Given the description of an element on the screen output the (x, y) to click on. 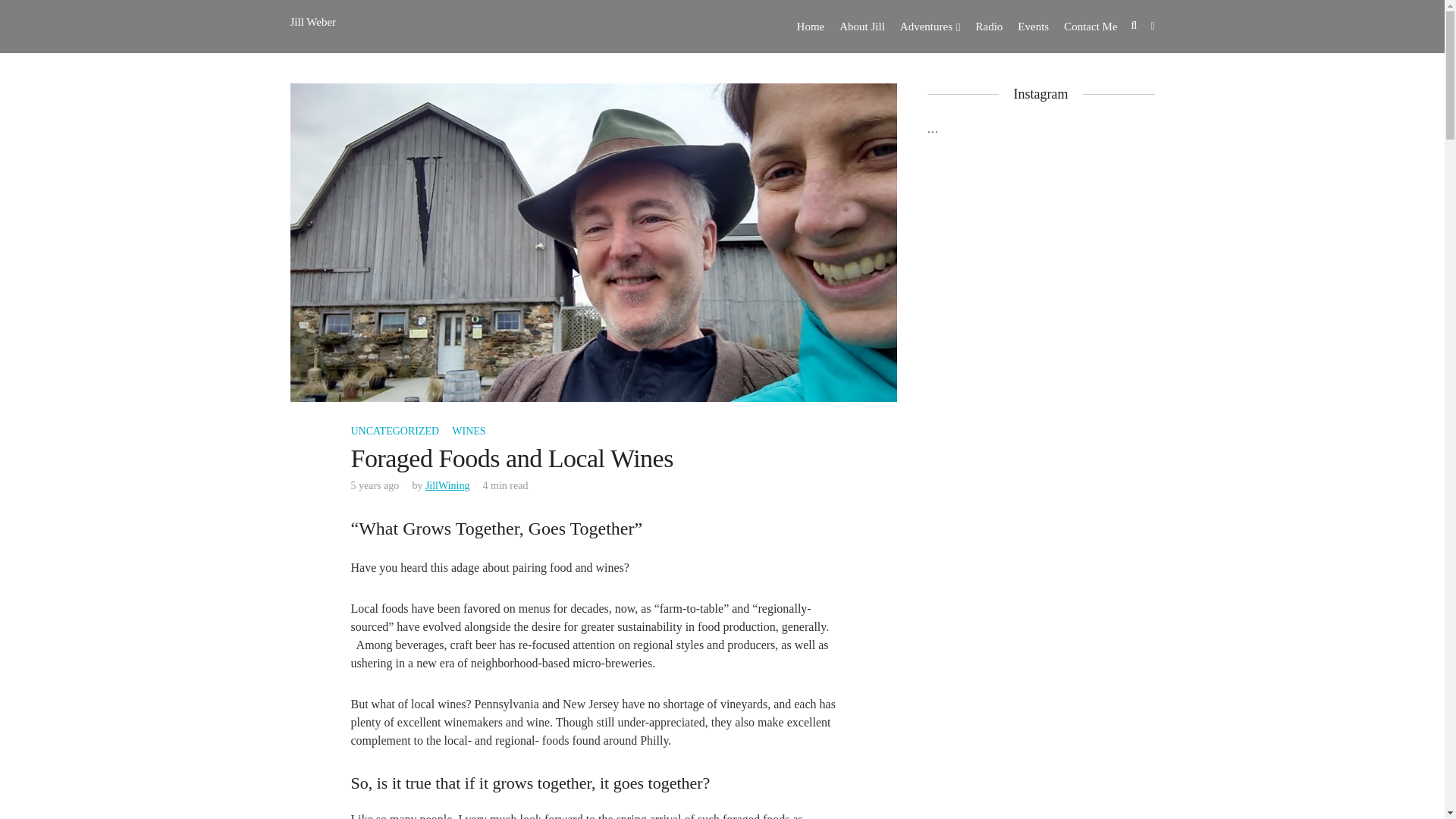
WINES (467, 430)
Jill Weber (312, 21)
JillWining (447, 485)
UNCATEGORIZED (394, 430)
Jill Weber (312, 21)
Contact Me (1090, 26)
Adventures (929, 26)
